Given the description of an element on the screen output the (x, y) to click on. 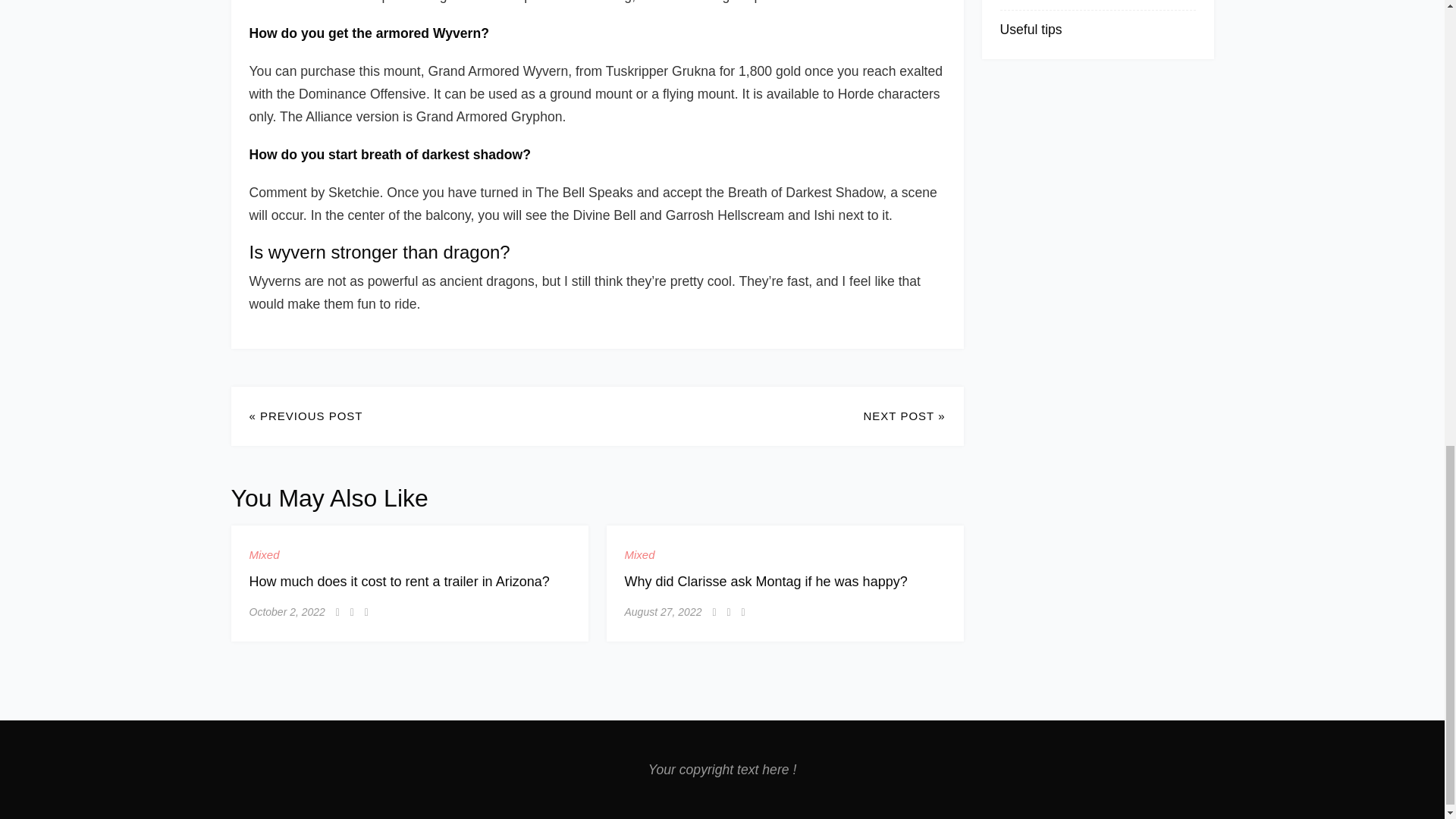
Mixed (639, 554)
How much does it cost to rent a trailer in Arizona? (398, 581)
Why did Clarisse ask Montag if he was happy? (765, 581)
October 2, 2022 (286, 611)
Mixed (263, 554)
August 27, 2022 (662, 611)
